Given the description of an element on the screen output the (x, y) to click on. 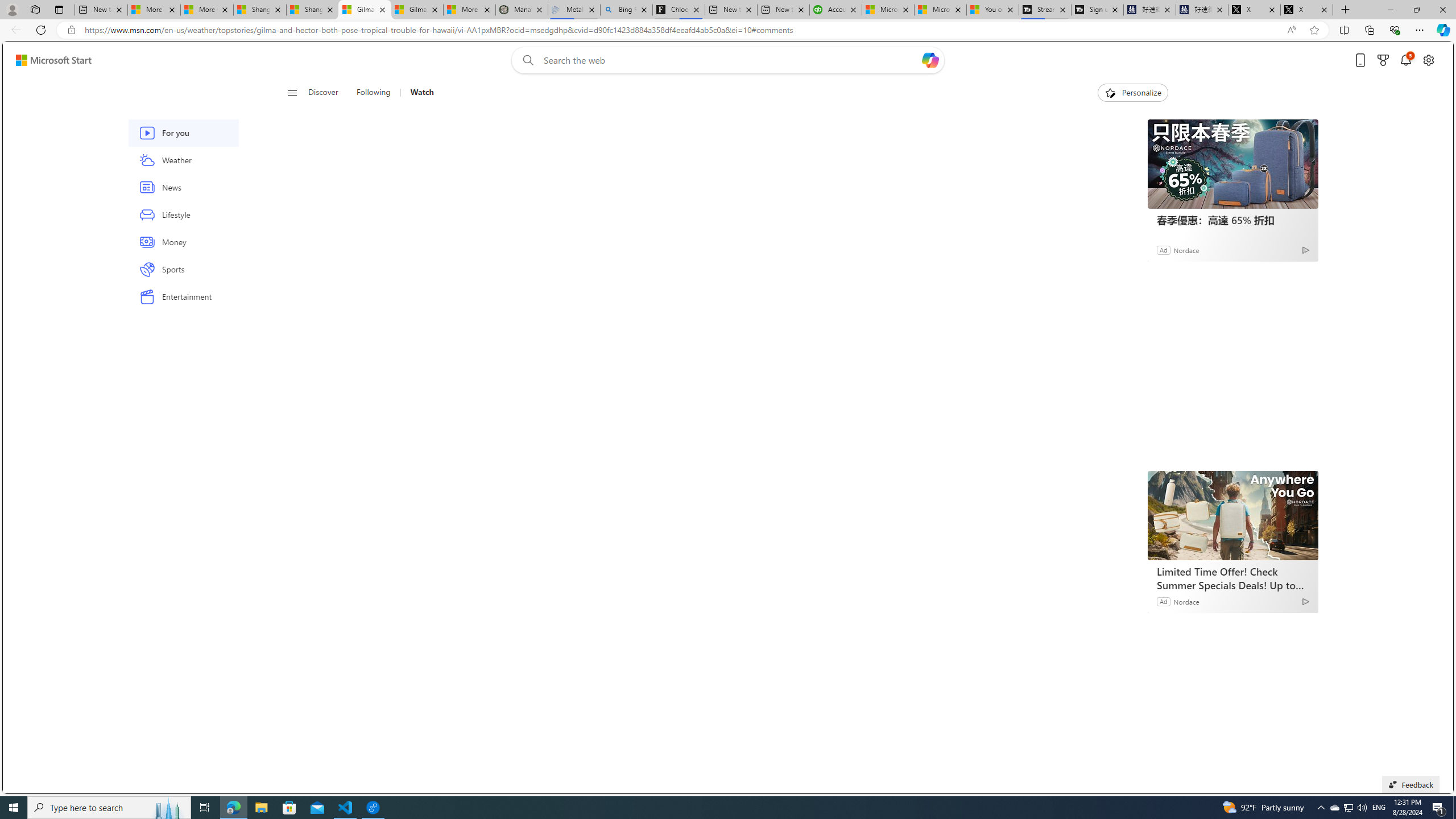
Manatee Mortality Statistics | FWC (521, 9)
Address and search bar (680, 29)
Shanghai, China weather forecast | Microsoft Weather (312, 9)
Skip to footer (46, 59)
Bing Real Estate - Home sales and rental listings (626, 9)
Skip to content (49, 59)
Watch (421, 92)
Following (373, 92)
Web search (526, 60)
Open Copilot (930, 59)
Discover (322, 92)
